Given the description of an element on the screen output the (x, y) to click on. 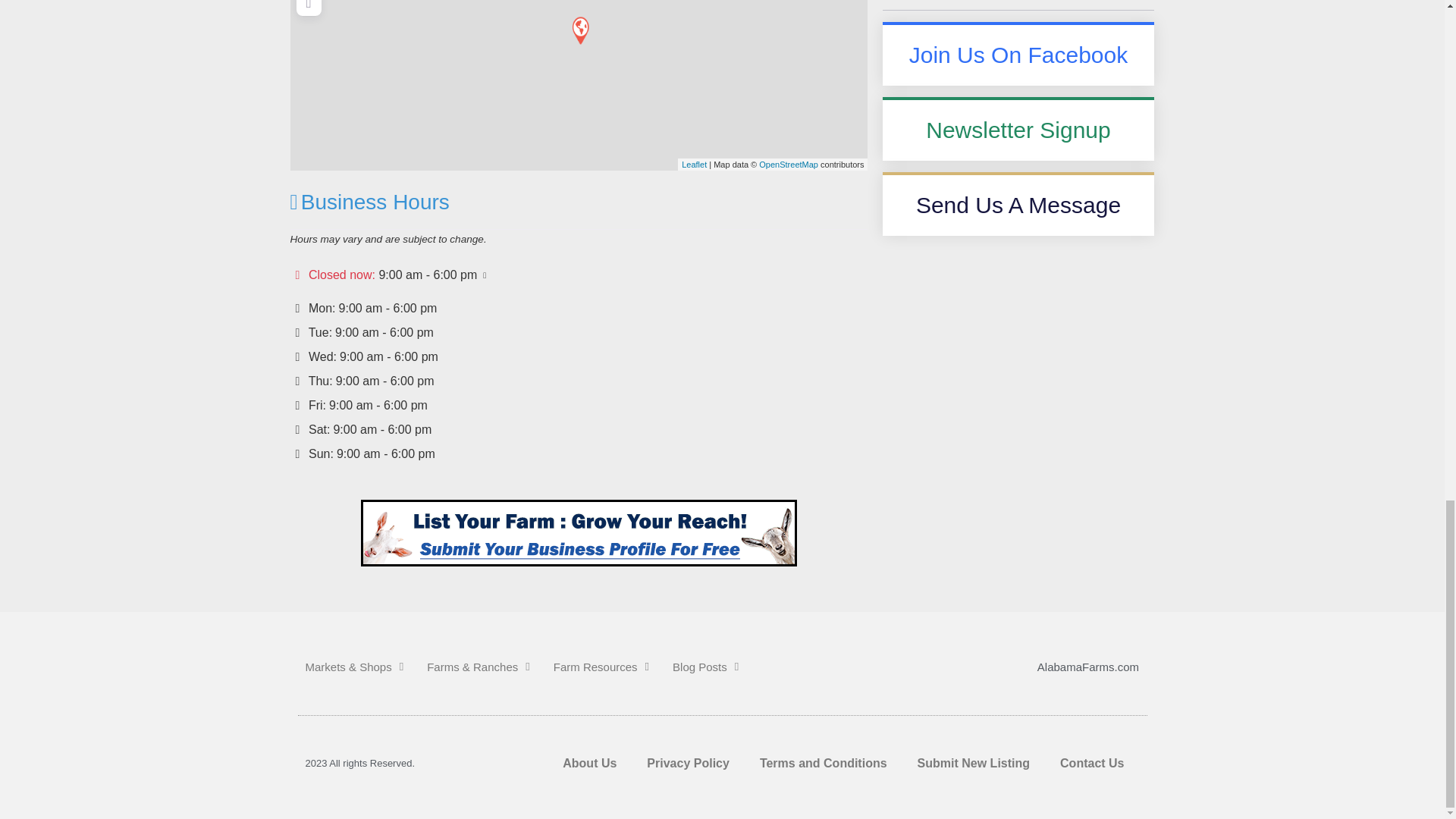
A JS library for interactive maps (693, 163)
Expand opening hours (427, 274)
